Given the description of an element on the screen output the (x, y) to click on. 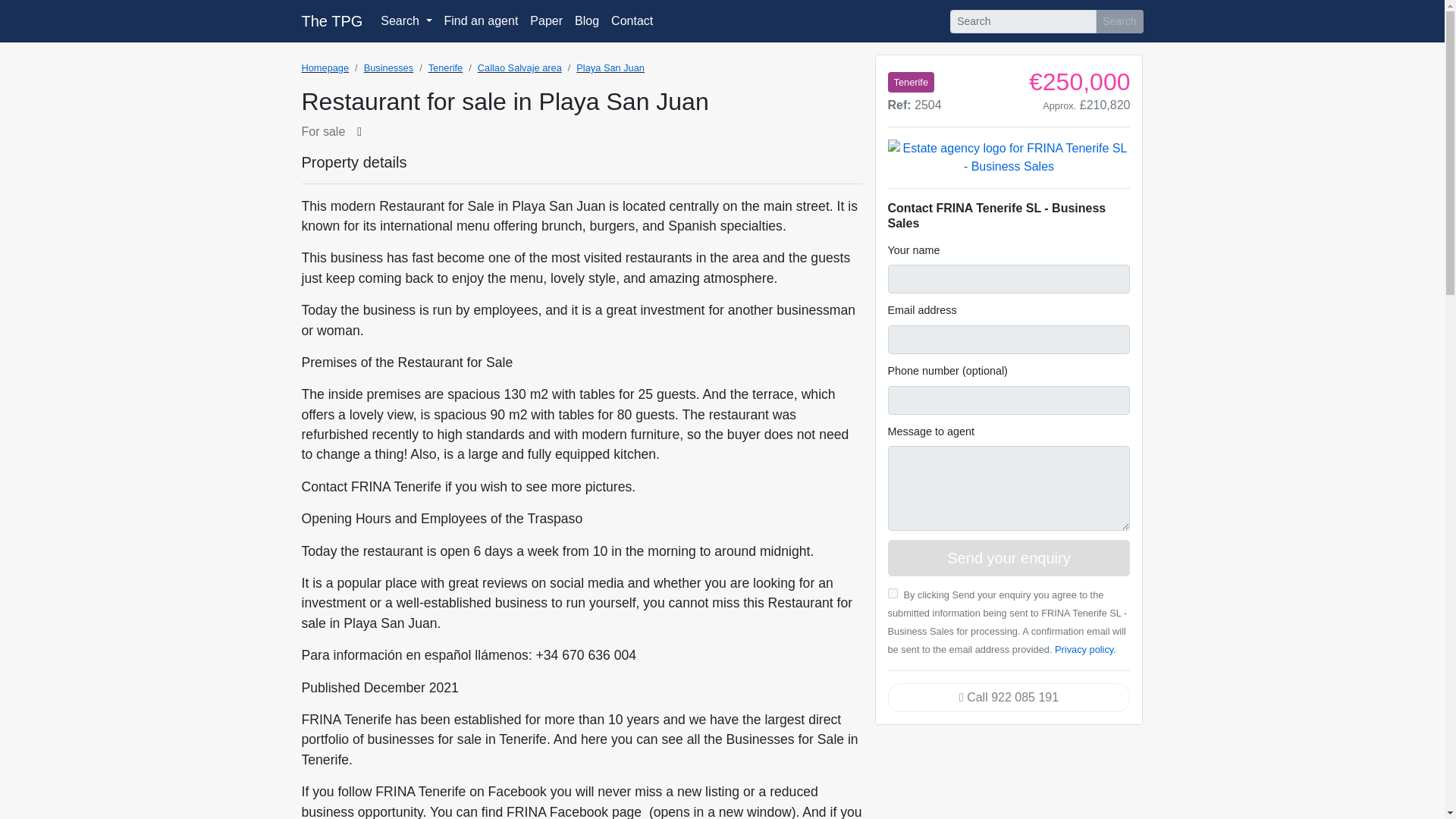
Businesses (388, 67)
true (891, 593)
Search (406, 20)
Playa San Juan (610, 67)
Homepage (325, 67)
Search (1119, 20)
Paper (546, 20)
The TPG (331, 20)
Blog (587, 20)
Contact (632, 20)
Callao Salvaje area (519, 67)
Rate: 0.84328 (1085, 105)
Privacy policy. (1085, 649)
Tenerife (445, 67)
Find an agent (481, 20)
